Given the description of an element on the screen output the (x, y) to click on. 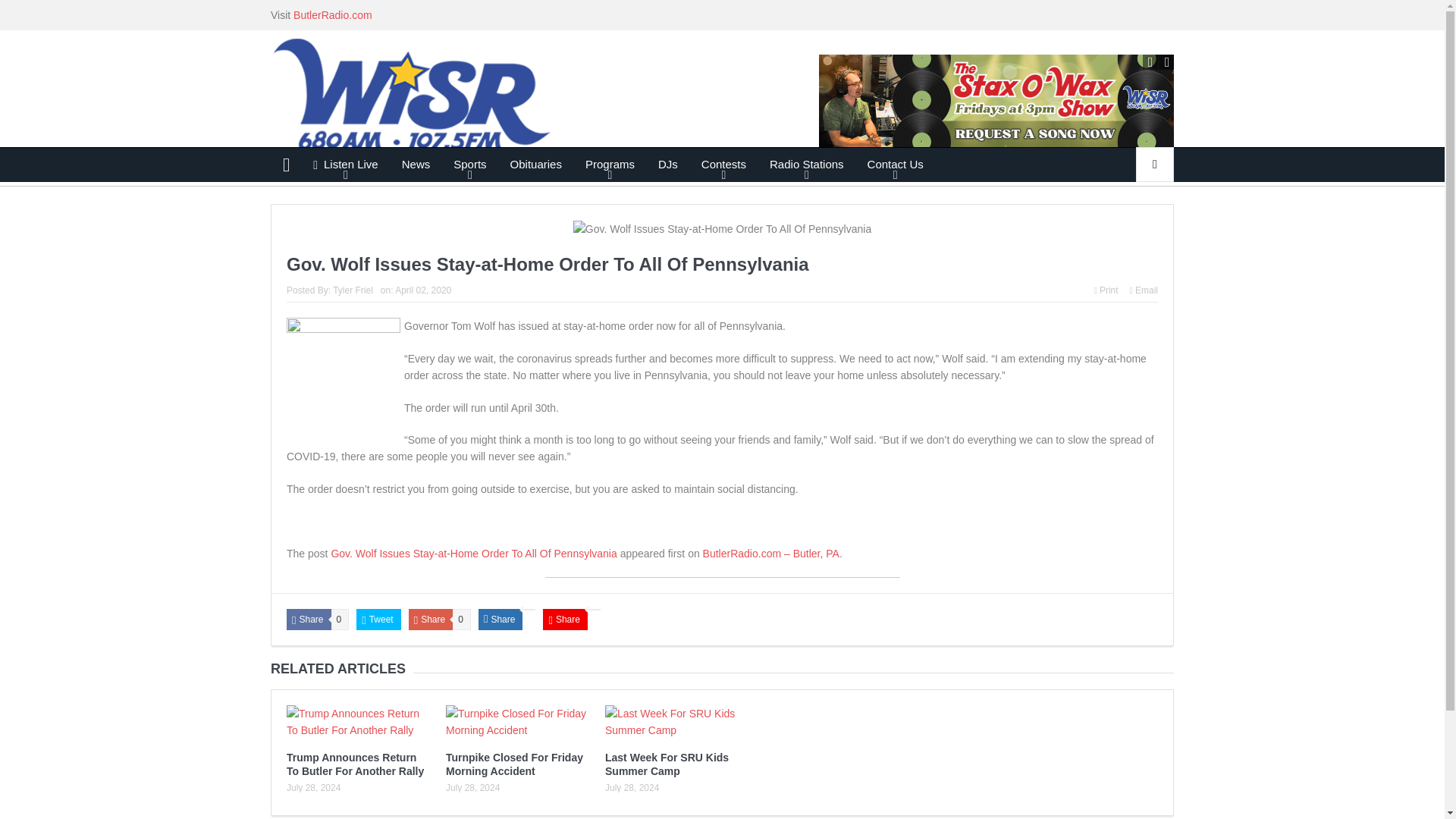
Sports (469, 164)
Listen Live (345, 164)
Obituaries (536, 164)
Contests (723, 164)
DJs (667, 164)
Contact Us (895, 164)
News (416, 164)
Radio Stations (807, 164)
ButlerRadio.com (333, 15)
Programs (609, 164)
